Given the description of an element on the screen output the (x, y) to click on. 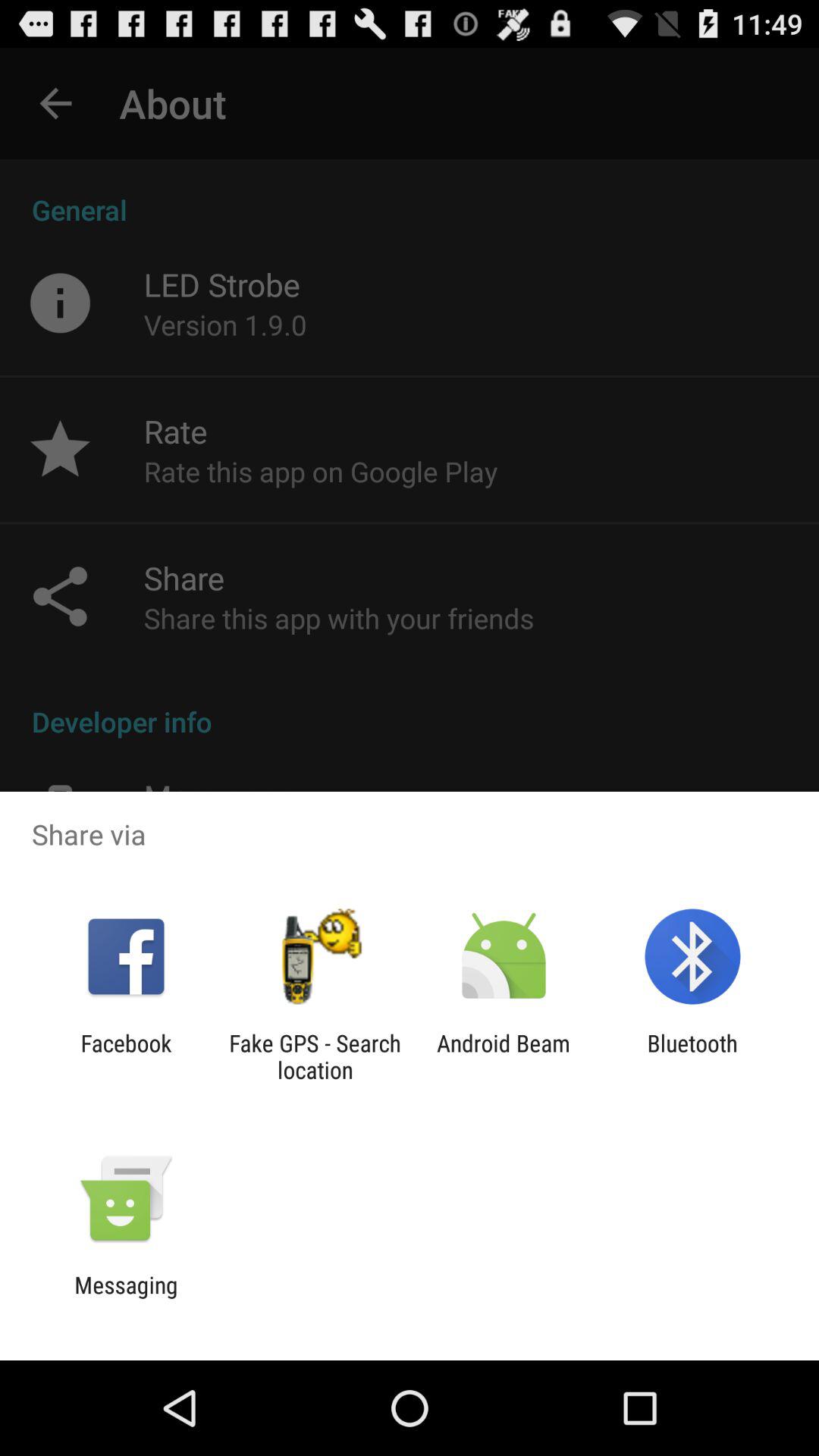
jump to facebook icon (125, 1056)
